Given the description of an element on the screen output the (x, y) to click on. 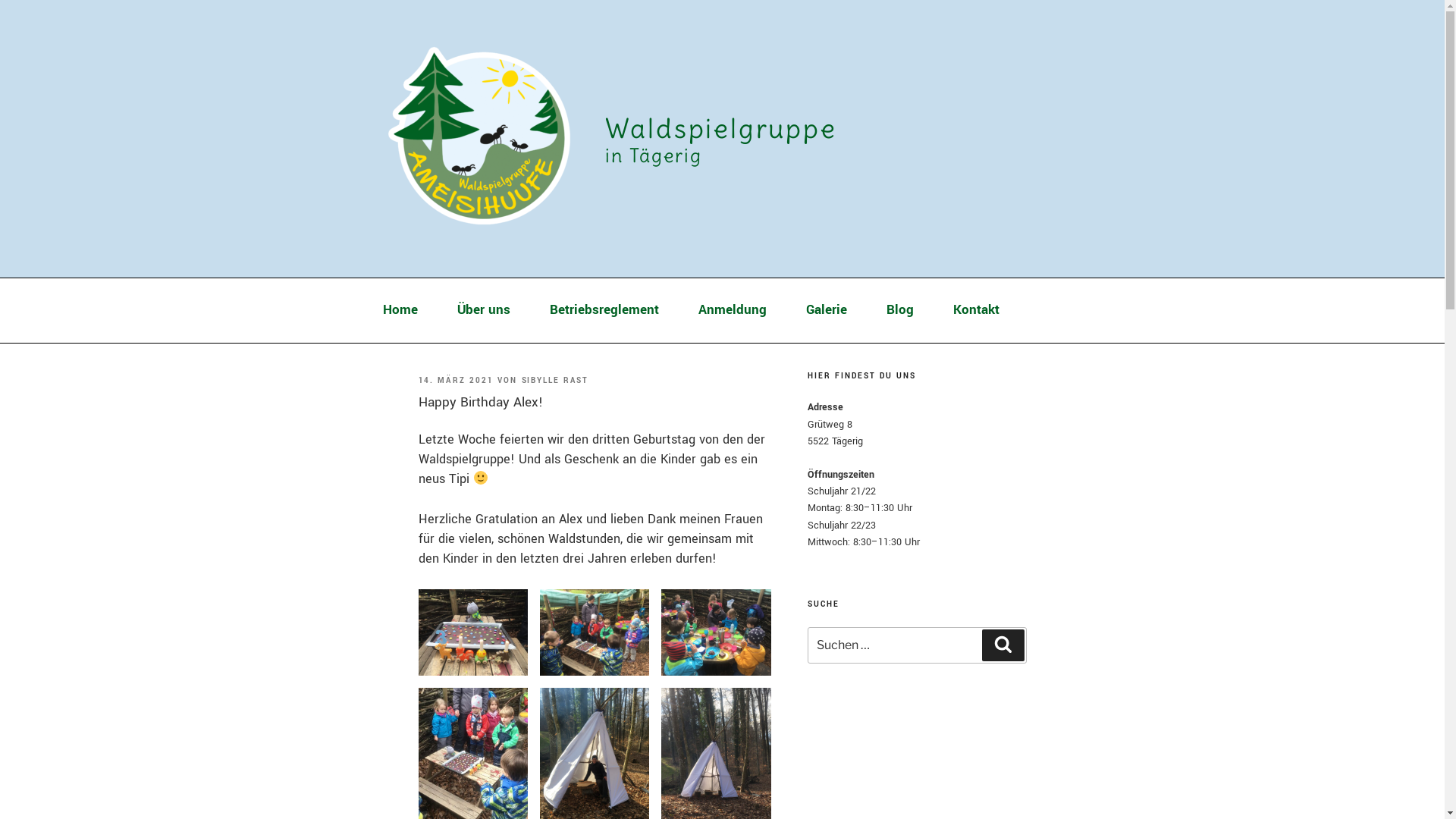
Galerie Element type: text (825, 309)
SIBYLLE RAST Element type: text (555, 380)
Anmeldung Element type: text (731, 309)
Waldspielgruppe Element type: text (721, 127)
Zum Inhalt springen Element type: text (0, 0)
Kontakt Element type: text (975, 309)
Home Element type: text (399, 309)
Blog Element type: text (899, 309)
Suchen Element type: text (1002, 645)
Betriebsreglement Element type: text (603, 309)
